Given the description of an element on the screen output the (x, y) to click on. 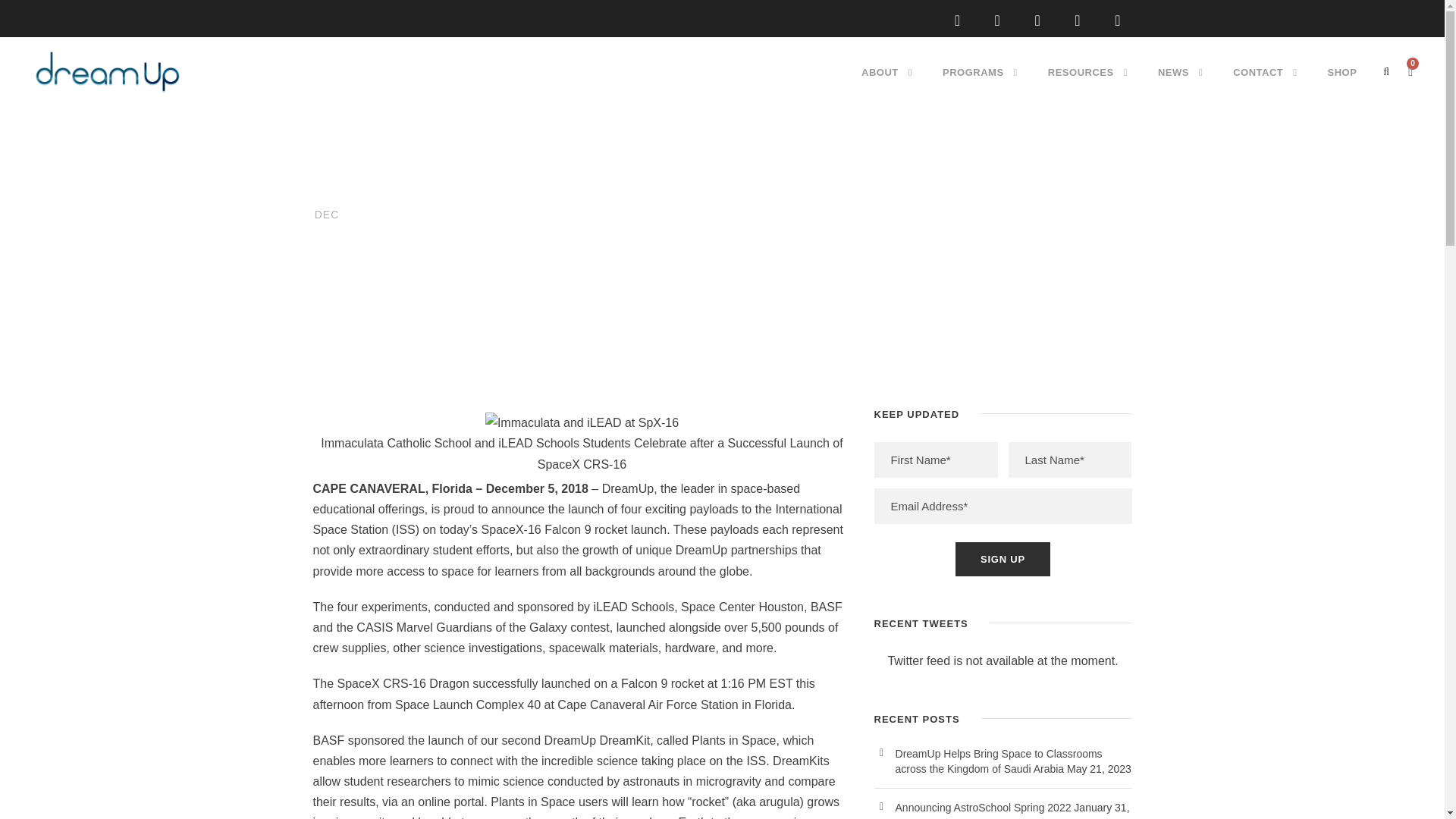
Sign up (1002, 559)
Posts by DreamUp (417, 287)
Martin Wilson (959, 795)
ABOUT (886, 85)
